Given the description of an element on the screen output the (x, y) to click on. 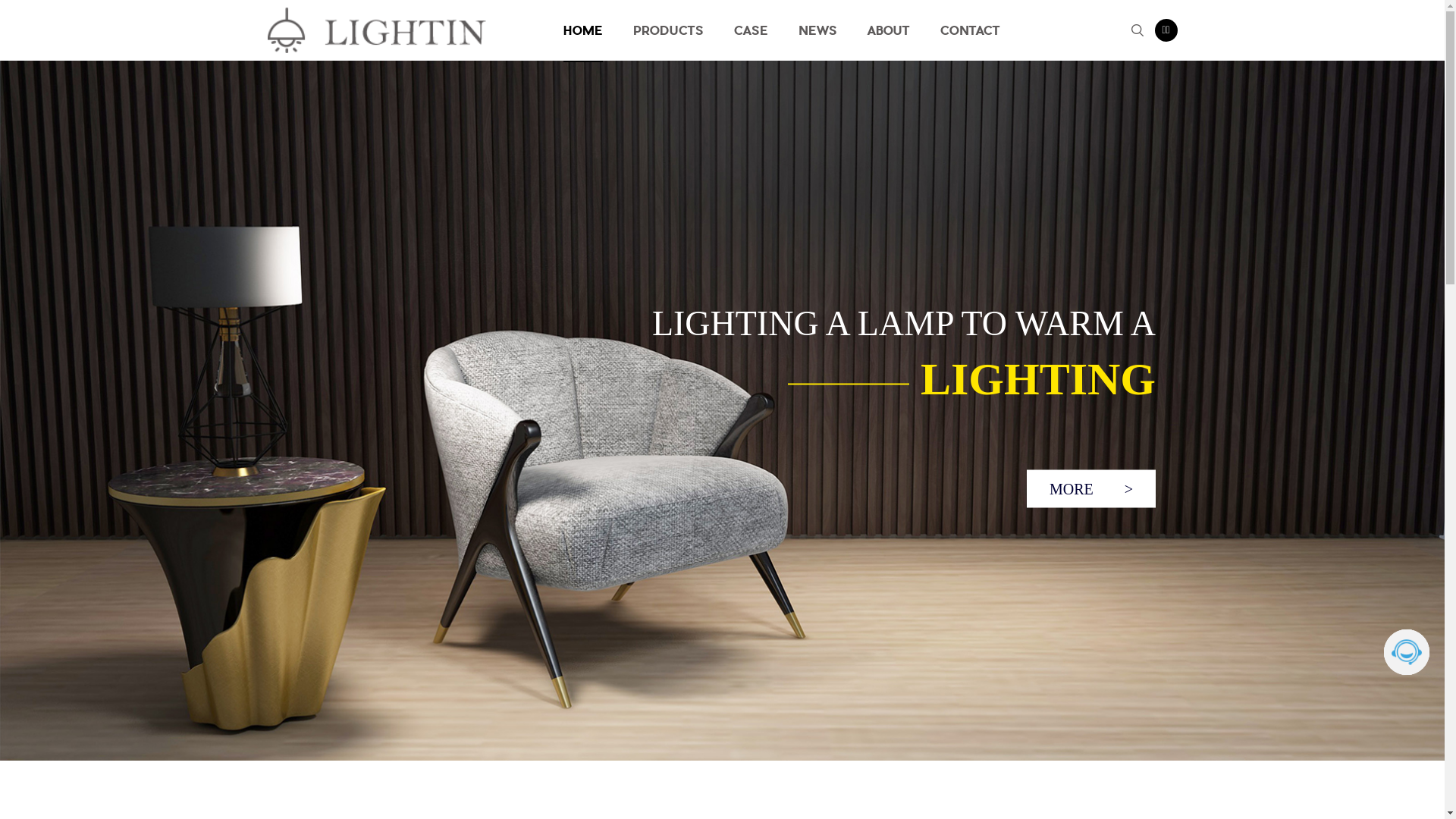
PRODUCTS Element type: text (667, 30)
ABOUT Element type: text (888, 30)
CASE Element type: text (751, 30)
CONTACT Element type: text (970, 30)
HOME Element type: text (582, 31)
NEWS Element type: text (816, 30)
LIGHTING A LAMP TO WARM A
LIGHTING
MORE
> Element type: text (722, 410)
Skype Element type: hover (1406, 651)
